Given the description of an element on the screen output the (x, y) to click on. 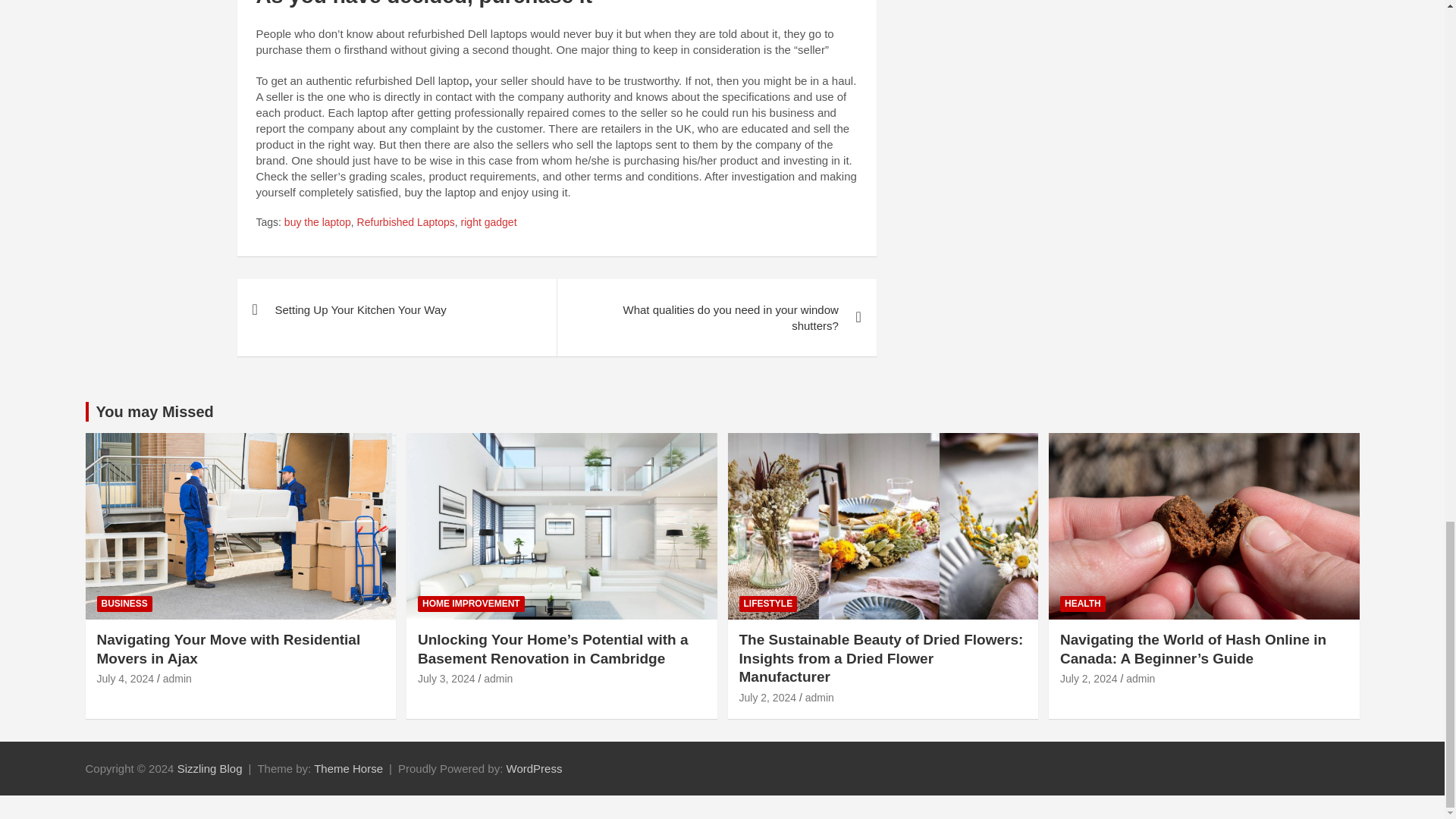
buy the laptop (316, 222)
Refurbished Laptops (405, 222)
Sizzling Blog (210, 768)
WordPress (534, 768)
right gadget (488, 222)
Theme Horse (348, 768)
Navigating Your Move with Residential Movers in Ajax (125, 678)
Setting Up Your Kitchen Your Way (395, 309)
What qualities do you need in your window shutters? (716, 317)
